Given the description of an element on the screen output the (x, y) to click on. 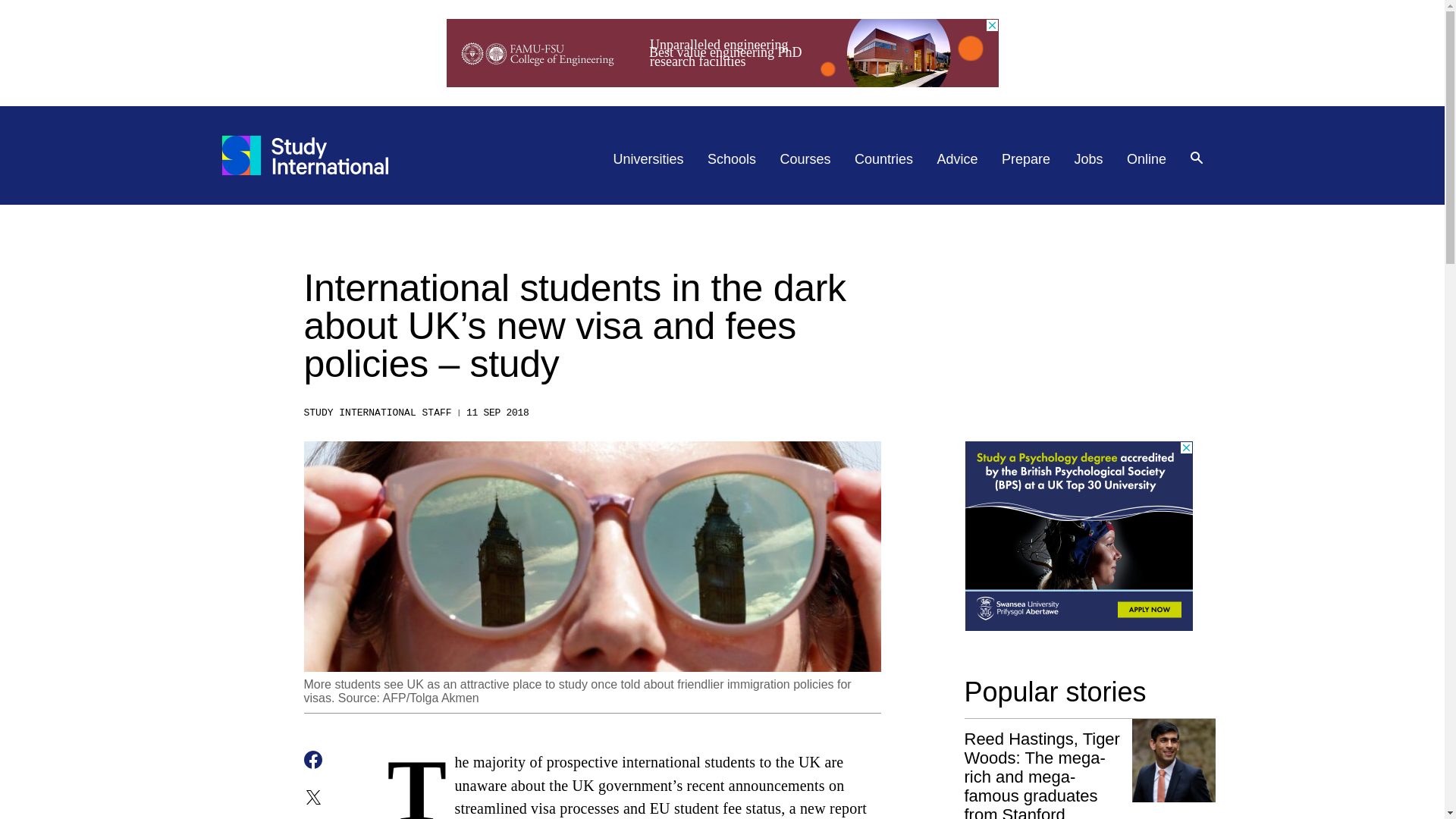
Online (1146, 159)
Prepare (1025, 159)
Universities (648, 159)
Jobs (1088, 159)
Countries (883, 159)
Courses (805, 159)
Schools (731, 159)
STUDY INTERNATIONAL STAFF (376, 412)
3rd party ad content (1078, 535)
Advice (957, 159)
3rd party ad content (721, 52)
